Given the description of an element on the screen output the (x, y) to click on. 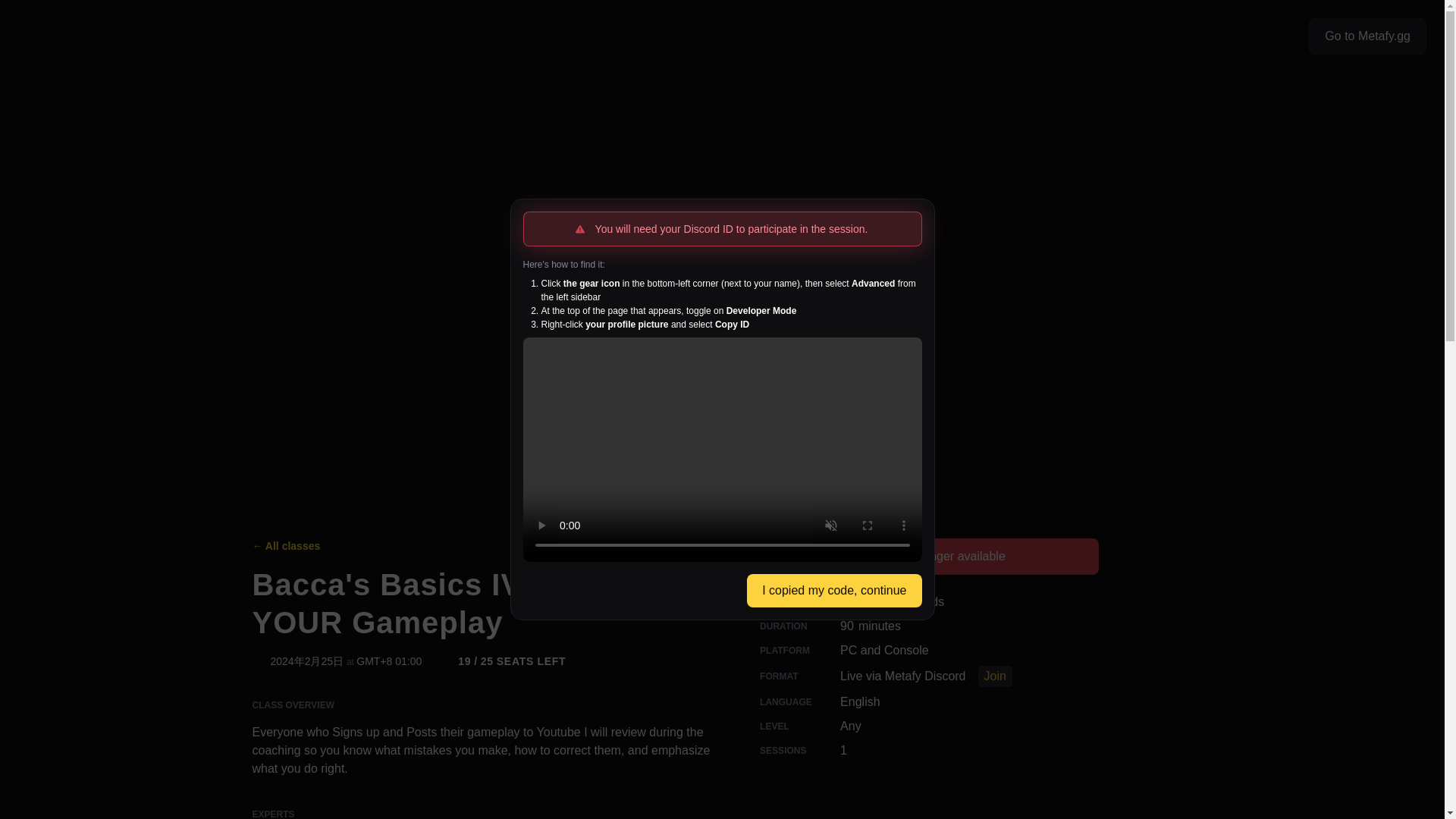
I copied my code, continue (833, 590)
Go to Metafy.gg (925, 676)
